Given the description of an element on the screen output the (x, y) to click on. 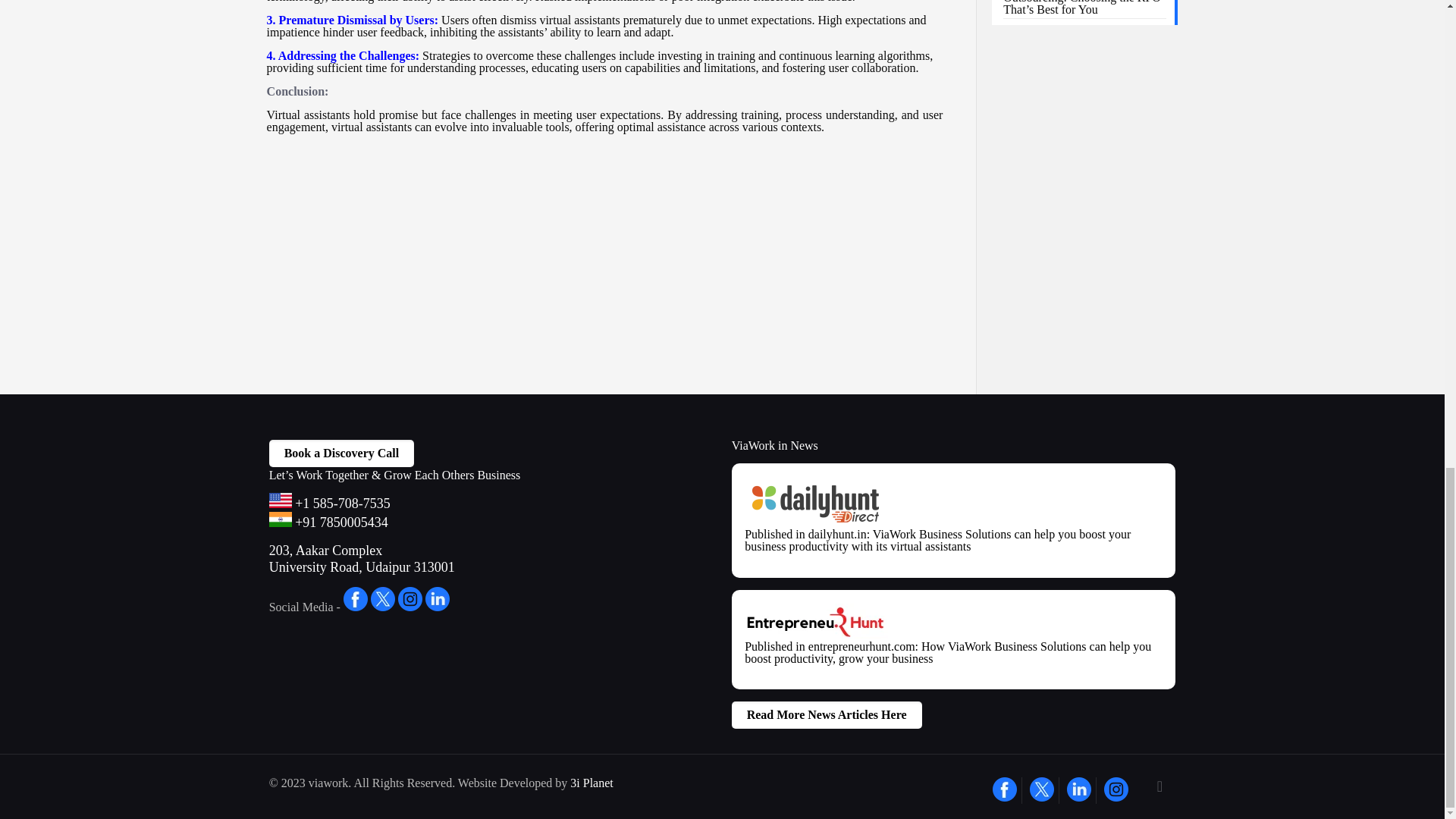
Read More News Articles Here (826, 714)
Book a Discovery Call (341, 452)
3i Planet (591, 782)
